Given the description of an element on the screen output the (x, y) to click on. 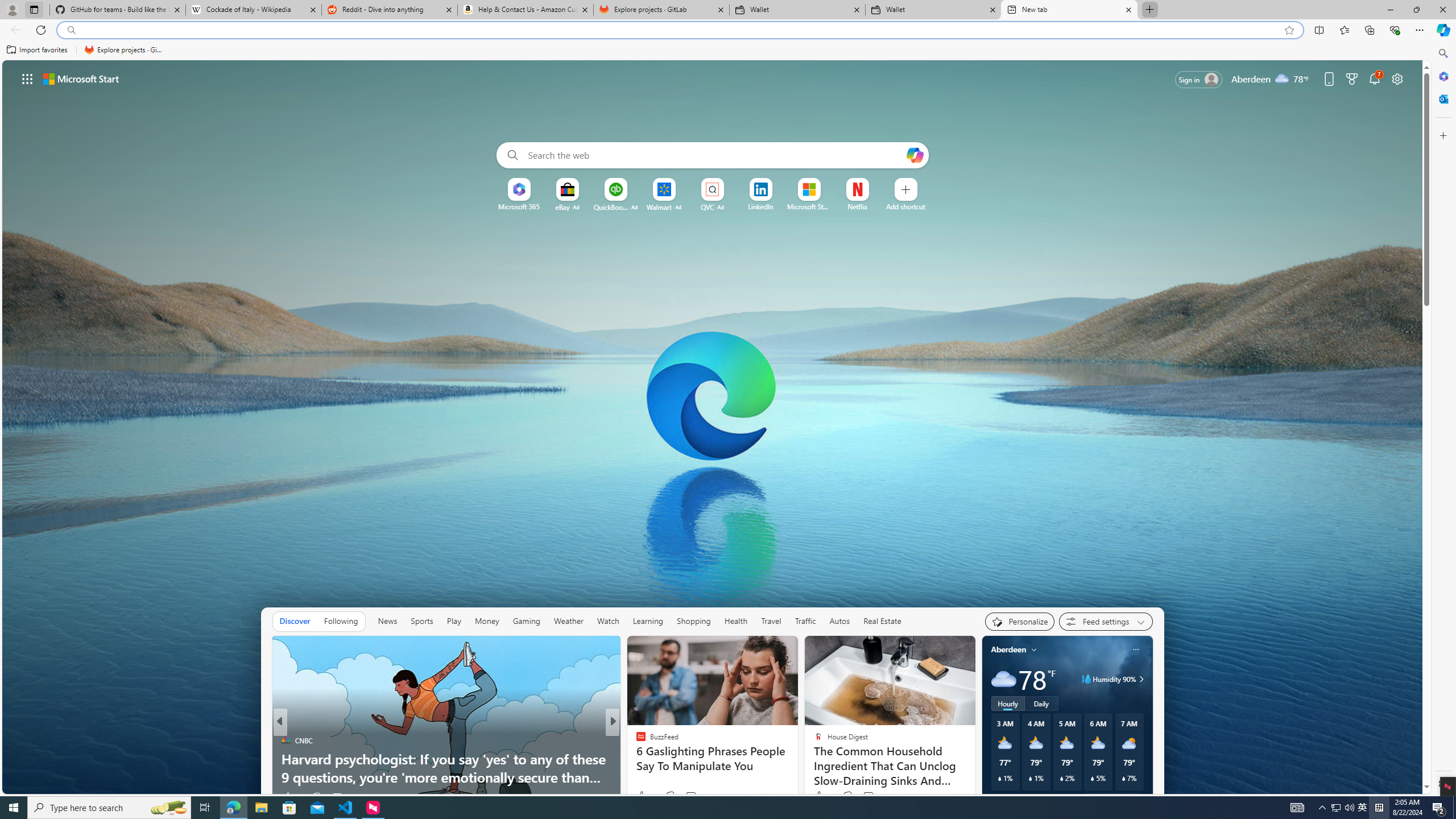
1k Like (645, 795)
Play (453, 621)
View comments 89 Comment (696, 796)
Enter your search term (714, 155)
Shopping (693, 621)
Personalize your feed" (1019, 621)
The Best All-You-Can-Eat Buffet in Every State (796, 777)
Cloudy (1003, 678)
Feed settings (1105, 621)
View comments 1k Comment (692, 796)
View comments 116 Comment (874, 795)
Notifications (1374, 78)
